Given the description of an element on the screen output the (x, y) to click on. 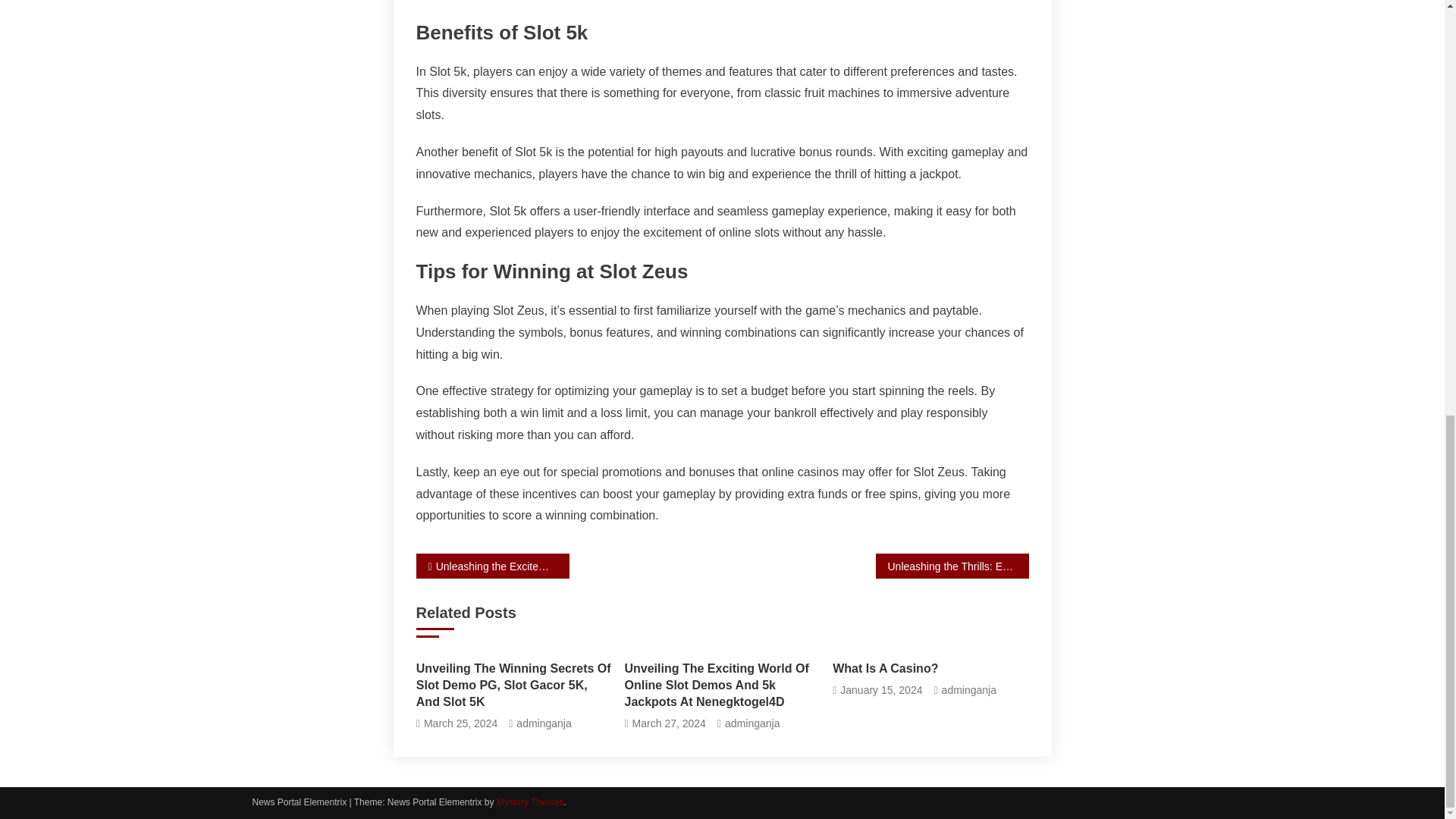
adminganja (543, 723)
adminganja (968, 690)
Mystery Themes (529, 801)
March 27, 2024 (668, 723)
January 15, 2024 (880, 690)
adminganja (751, 723)
What Is A Casino? (929, 668)
March 25, 2024 (460, 723)
